Given the description of an element on the screen output the (x, y) to click on. 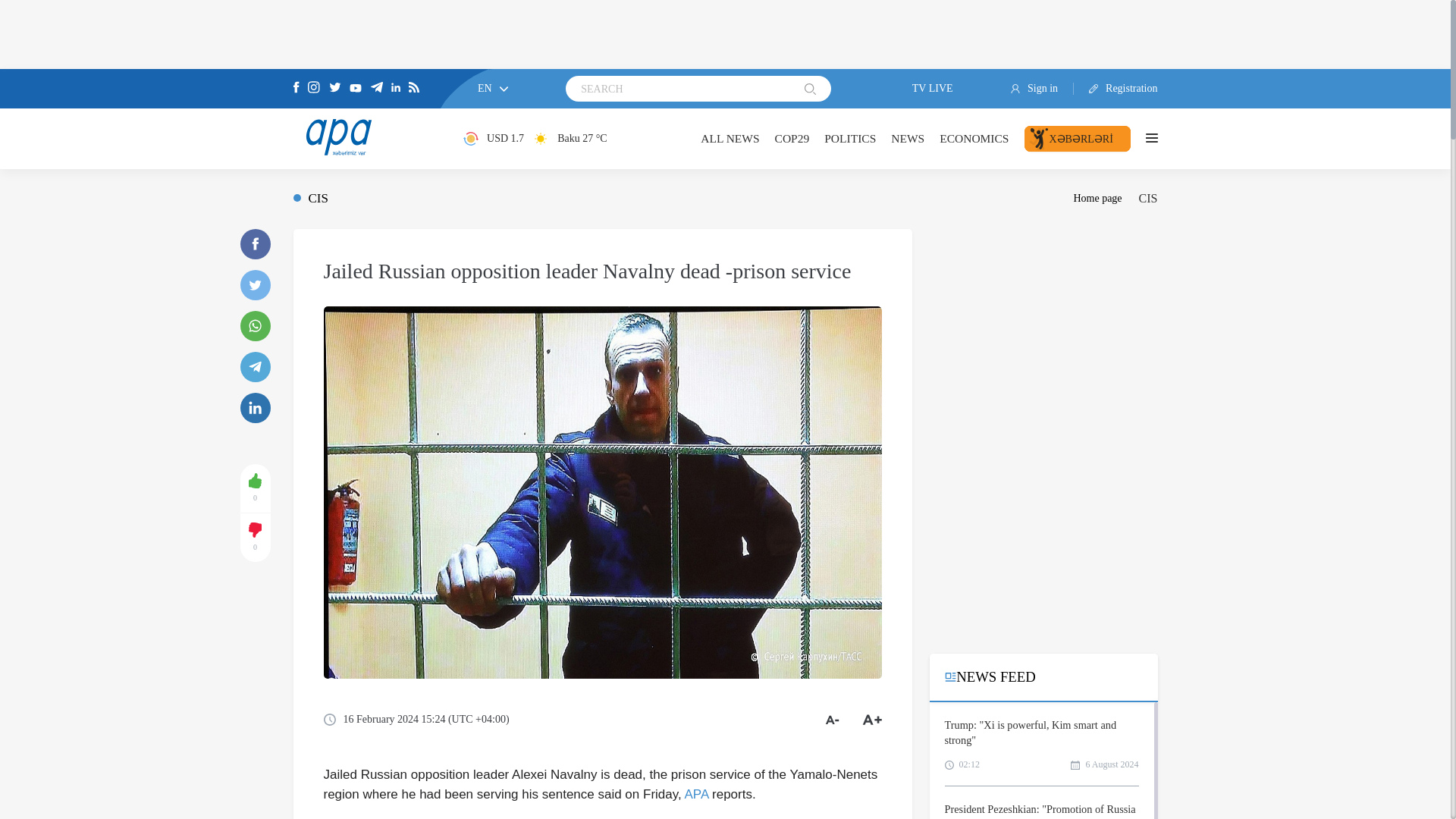
COP29 (791, 138)
NEWS (907, 138)
Registration (1115, 88)
Sign in (1042, 88)
ECONOMICS (974, 138)
USD 1.7 (493, 138)
TV LIVE (921, 88)
ALL NEWS (729, 138)
POLITICS (850, 138)
